Given the description of an element on the screen output the (x, y) to click on. 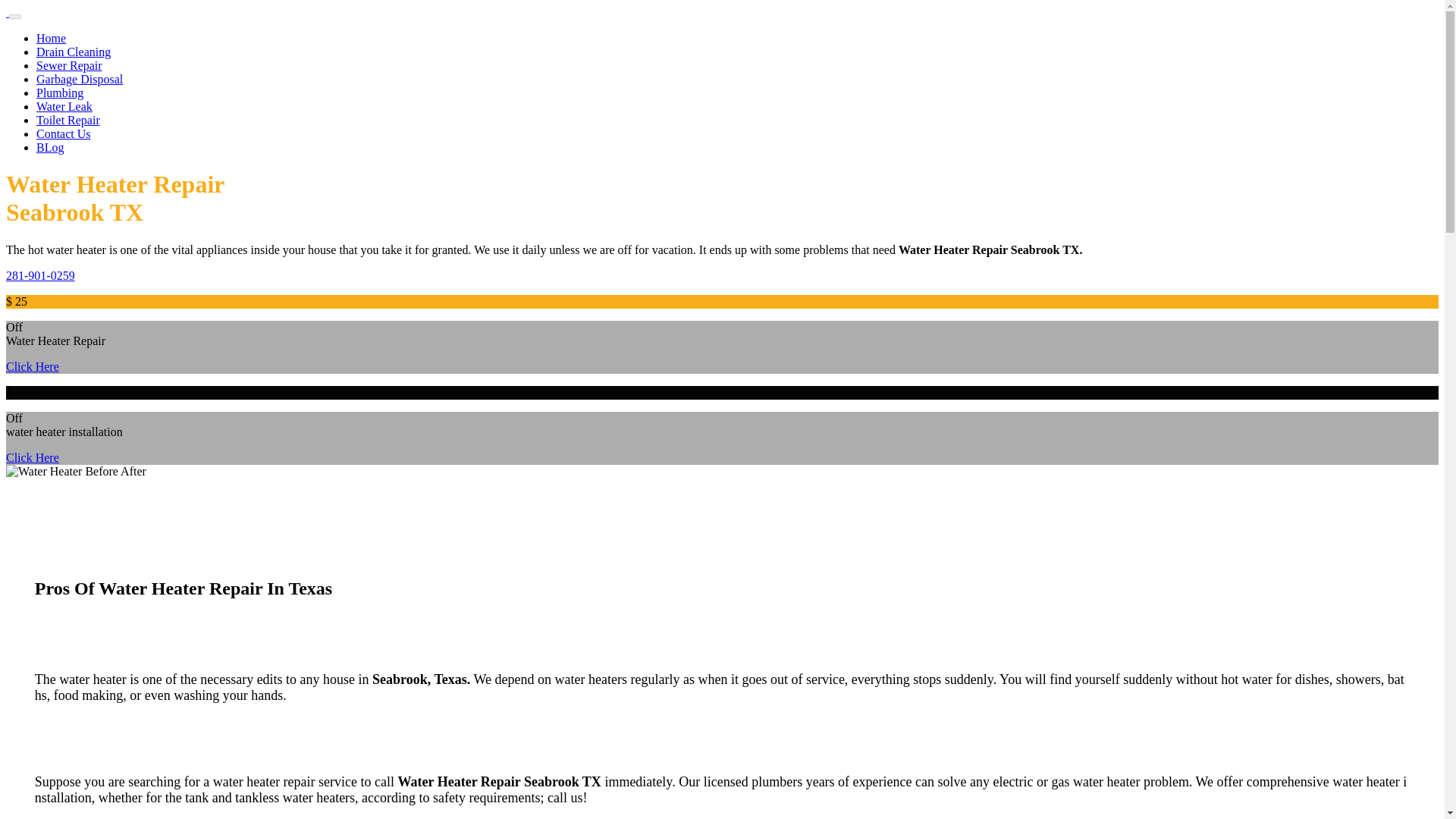
281-901-0259 (40, 275)
Click Here (32, 366)
Home (50, 38)
Sewer Repair (68, 65)
Contact Us (63, 133)
Water Leak (64, 106)
Plumbing (59, 92)
BLog (50, 146)
Garbage Disposal (79, 78)
Drain Cleaning (73, 51)
Click Here (32, 457)
Toilet Repair (68, 119)
